Given the description of an element on the screen output the (x, y) to click on. 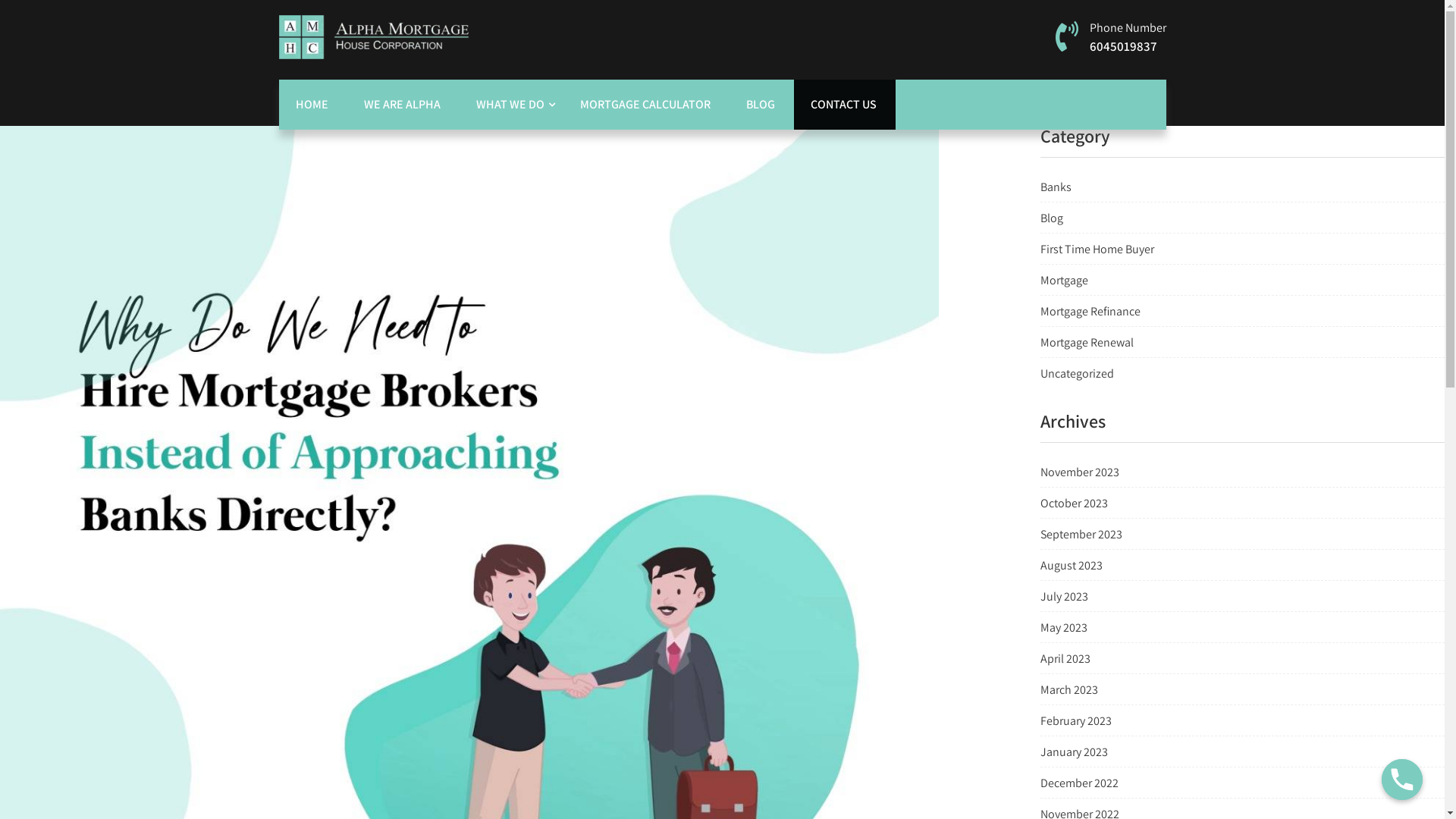
March 2023 Element type: text (1069, 689)
January 2023 Element type: text (1073, 751)
BLOG Element type: text (761, 104)
Banks Element type: text (1055, 186)
April 2023 Element type: text (1065, 658)
February 2023 Element type: text (1075, 720)
September 2023 Element type: text (1081, 534)
November 2023 Element type: text (1079, 472)
May 2023 Element type: text (1063, 627)
December 2022 Element type: text (1079, 782)
Mortgage Refinance Element type: text (1090, 311)
Mortgage Renewal Element type: text (1086, 342)
HOME Element type: text (313, 104)
August 2023 Element type: text (1071, 565)
MORTGAGE CALCULATOR Element type: text (645, 104)
Mortgage Element type: text (1064, 280)
WE ARE ALPHA Element type: text (403, 104)
July 2023 Element type: text (1064, 596)
Uncategorized Element type: text (1076, 373)
October 2023 Element type: text (1073, 503)
CONTACT US Element type: text (843, 104)
Blog Element type: text (1051, 217)
First Time Home Buyer Element type: text (1097, 249)
WHAT WE DO Element type: text (511, 104)
